Given the description of an element on the screen output the (x, y) to click on. 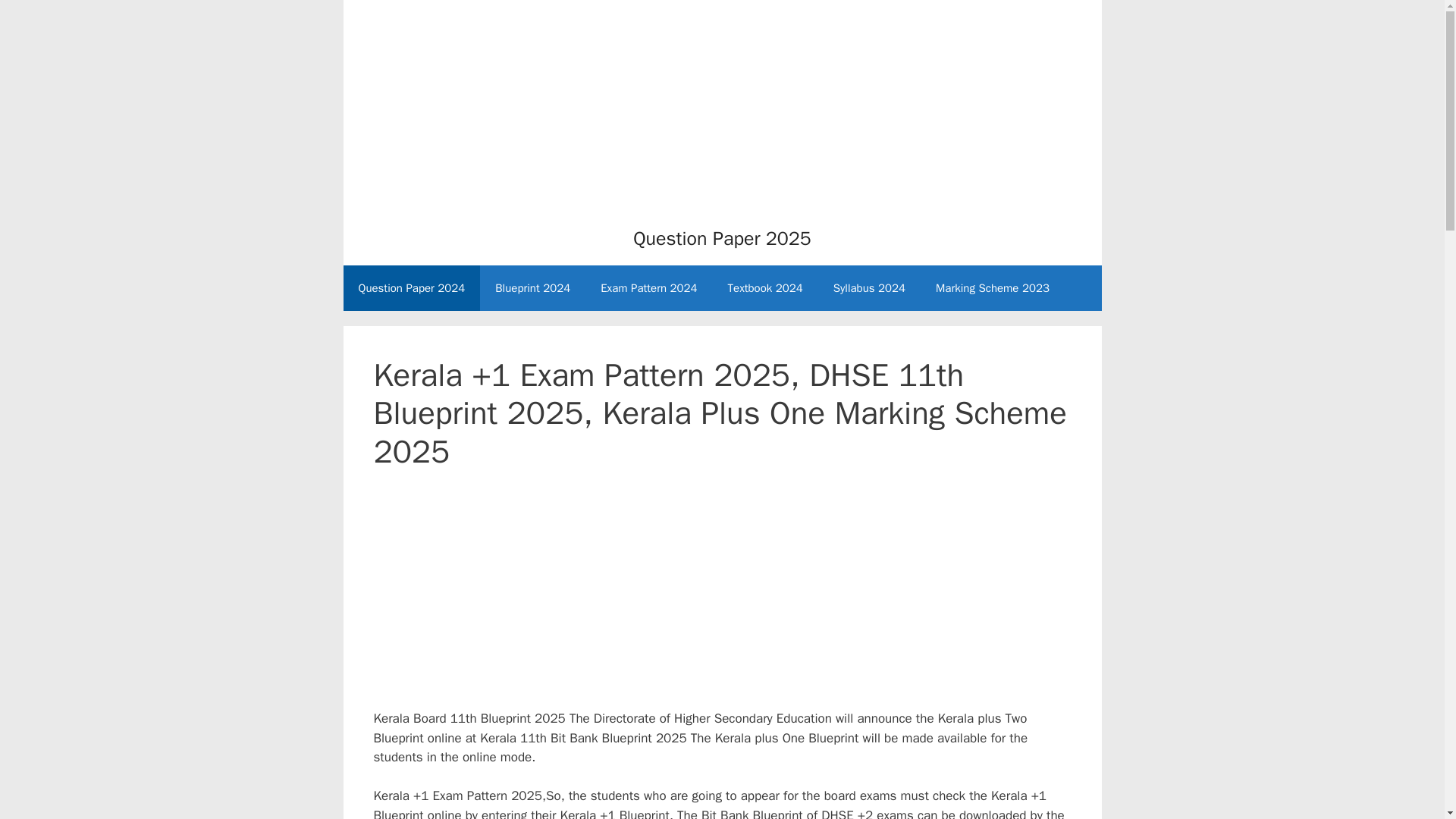
Textbook 2024 (765, 288)
Question Paper 2025 (721, 238)
Blueprint 2024 (532, 288)
Syllabus 2024 (869, 288)
Question Paper 2024 (411, 288)
Exam Pattern 2024 (648, 288)
Marking Scheme 2023 (992, 288)
